Given the description of an element on the screen output the (x, y) to click on. 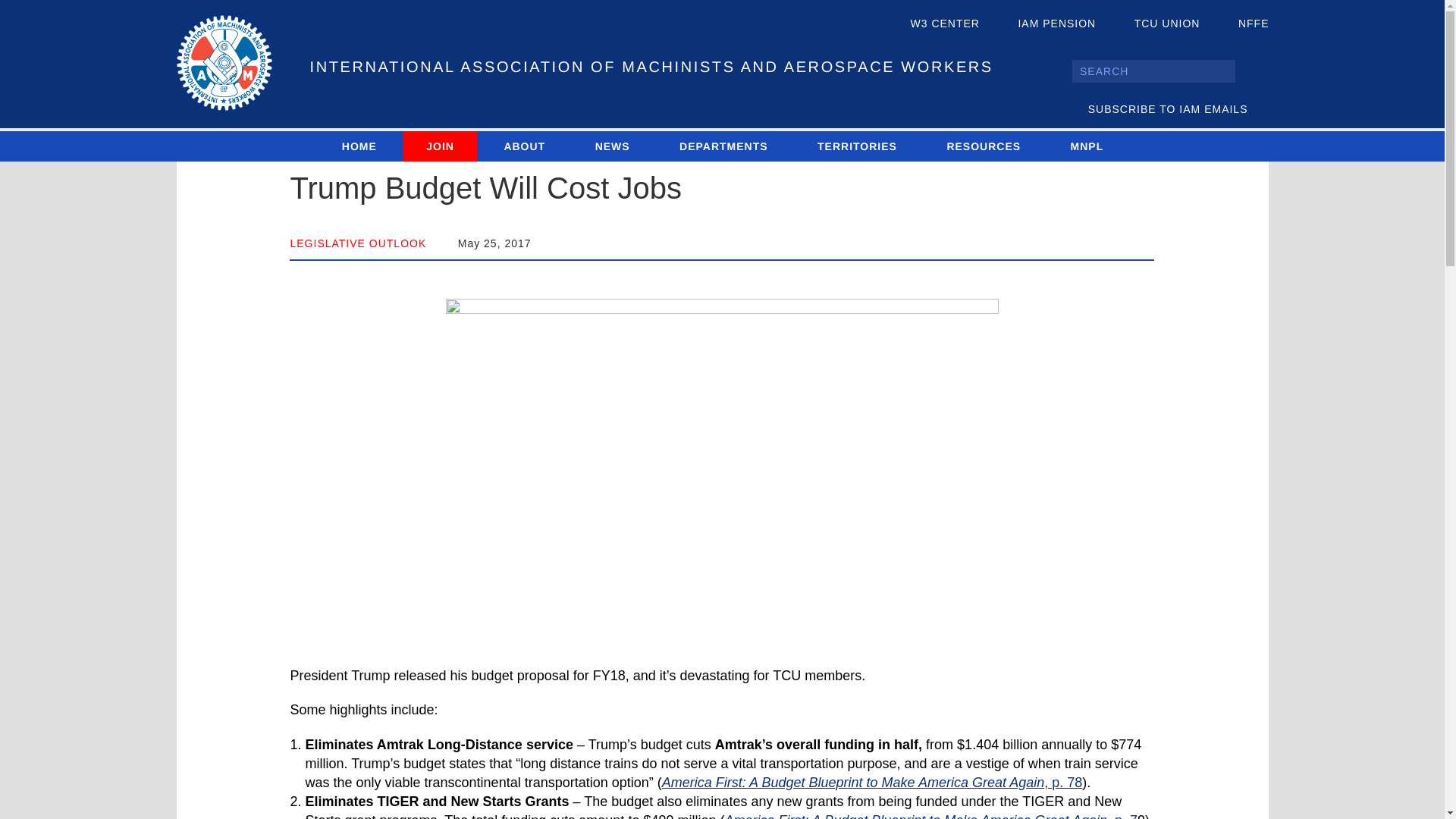
LEGISLATIVE OUTLOOK (357, 243)
NFFE (1240, 24)
NEWS (612, 146)
MNPL (1086, 146)
W3 CENTER (932, 24)
There is a 4 character minimum for any search. (1152, 70)
HOME (358, 146)
JOIN (440, 146)
DEPARTMENTS (723, 146)
